Given the description of an element on the screen output the (x, y) to click on. 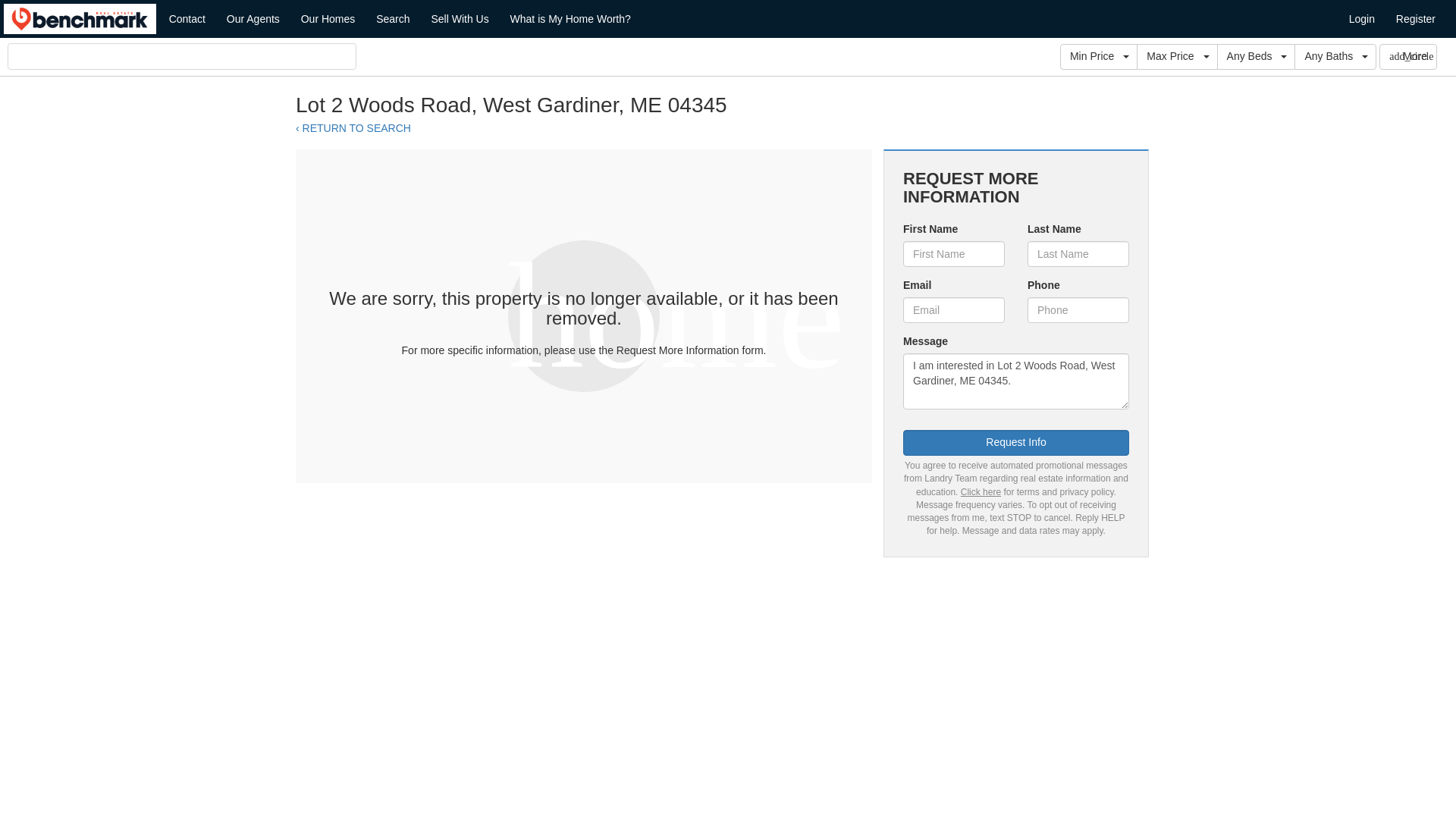
Our Homes (328, 18)
Our Agents (252, 18)
Sell With Us (459, 18)
Search (392, 18)
What is My Home Worth? (570, 18)
Contact (187, 18)
Min Price (1098, 56)
Register (1415, 18)
Login (1361, 18)
